Given the description of an element on the screen output the (x, y) to click on. 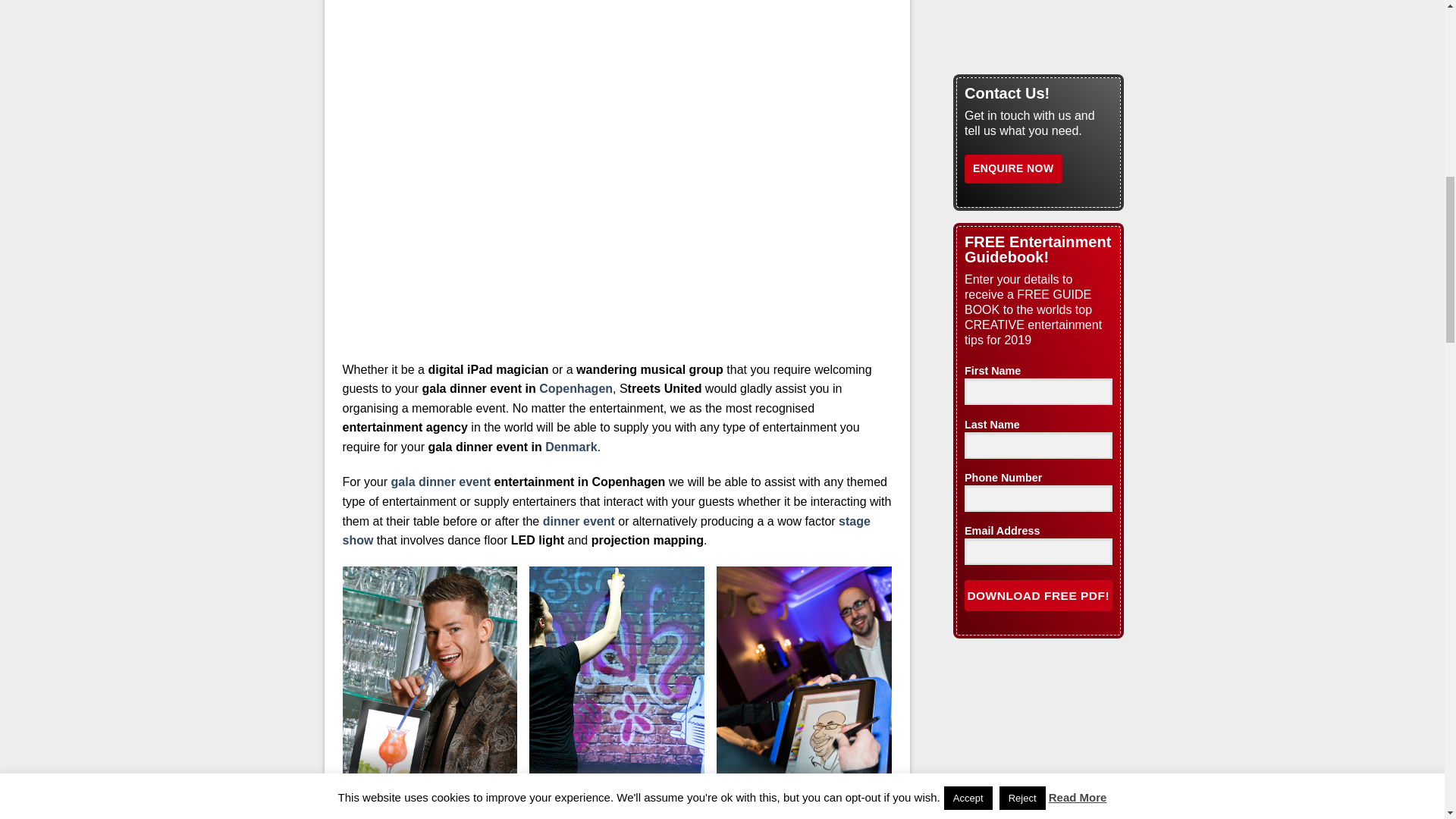
gala dinner event (441, 481)
stage show (606, 531)
dinner event (578, 521)
Copenhagen (575, 388)
Denmark (570, 446)
